Given the description of an element on the screen output the (x, y) to click on. 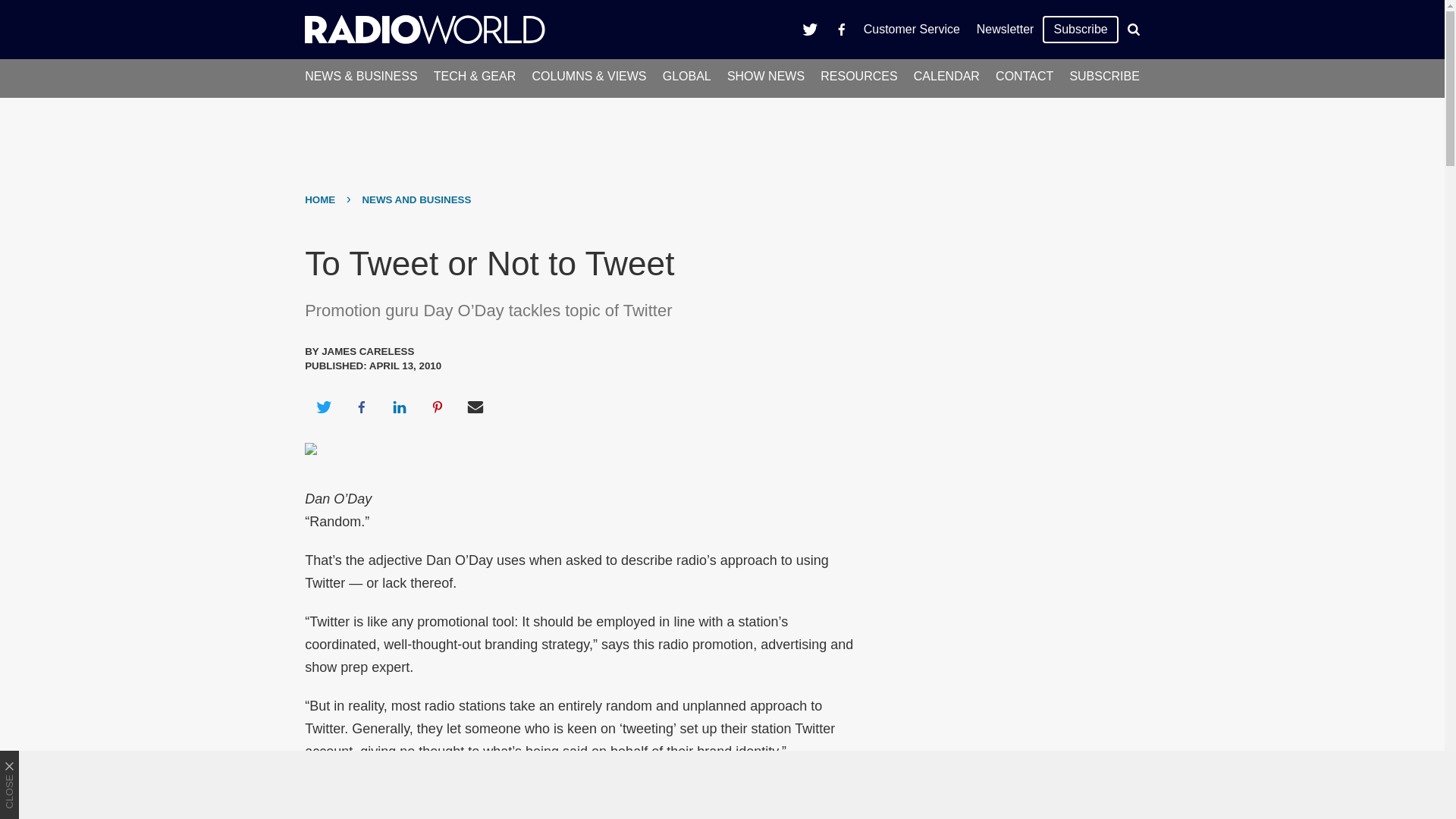
Customer Service (912, 29)
Share on Pinterest (438, 406)
Share on Twitter (323, 406)
Share on Facebook (361, 406)
Share via Email (476, 406)
Share on LinkedIn (399, 406)
